Given the description of an element on the screen output the (x, y) to click on. 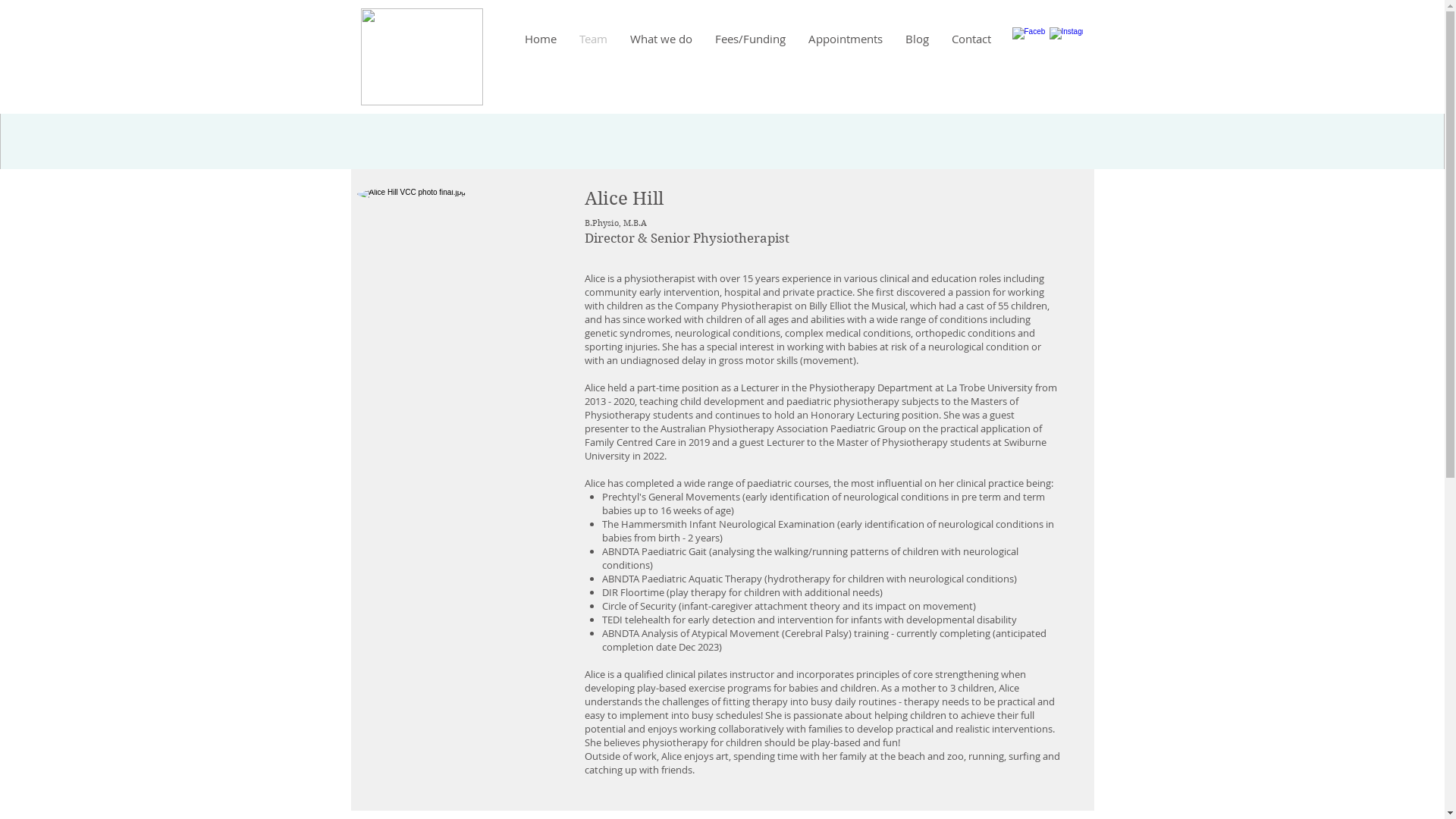
Appointments Element type: text (844, 38)
Home Element type: text (539, 38)
logo FINAL illustrator.png Element type: hover (421, 56)
Blog Element type: text (916, 38)
Fees/Funding Element type: text (750, 38)
Contact Element type: text (971, 38)
What we do Element type: text (660, 38)
Team Element type: text (592, 38)
